Given the description of an element on the screen output the (x, y) to click on. 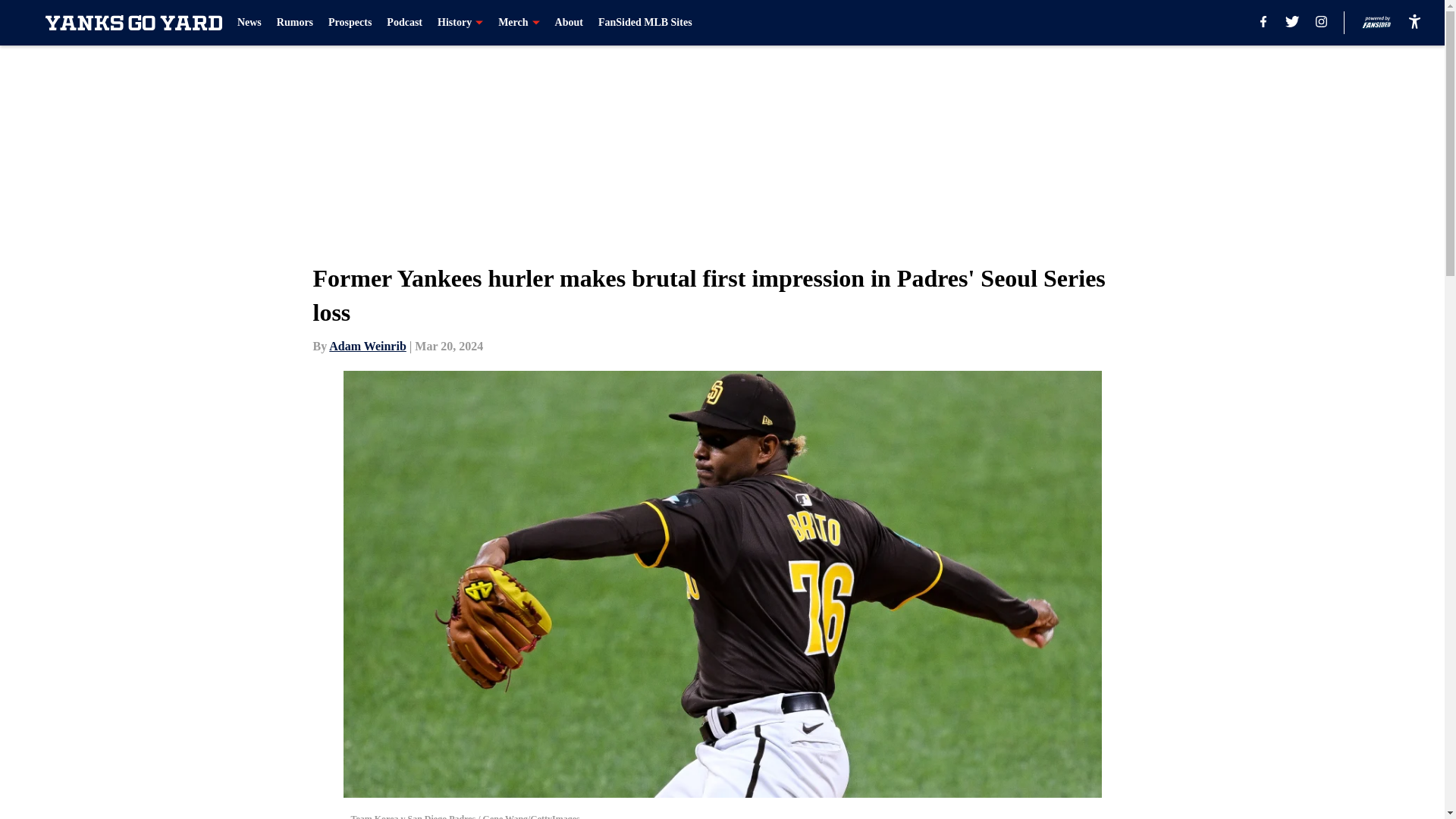
Adam Weinrib (367, 345)
News (249, 22)
Rumors (294, 22)
About (568, 22)
FanSided MLB Sites (645, 22)
Podcast (404, 22)
Prospects (350, 22)
